Given the description of an element on the screen output the (x, y) to click on. 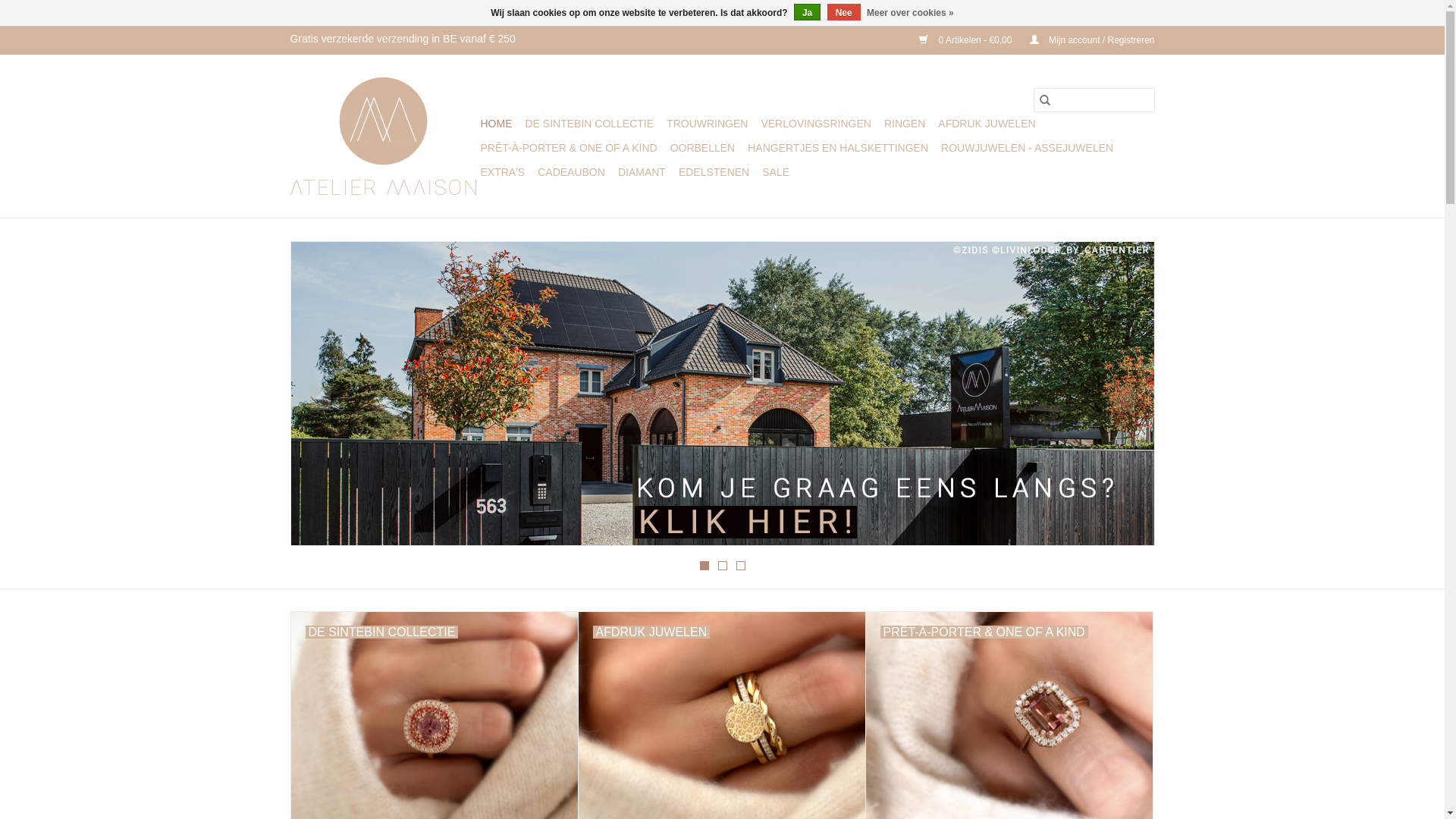
SALE Element type: text (775, 172)
TROUWRINGEN Element type: text (707, 123)
DE SINTEBIN COLLECTIE Element type: text (589, 123)
Ja Element type: text (806, 11)
CADEAUBON Element type: text (571, 172)
DIAMANT Element type: text (641, 172)
HANGERTJES EN HALSKETTINGEN Element type: text (837, 147)
3 Element type: text (739, 565)
trouwen Element type: hover (722, 393)
1 Element type: text (703, 565)
EDELSTENEN Element type: text (713, 172)
EXTRA'S Element type: text (503, 172)
Mijn account / Registreren Element type: text (1084, 39)
ROUWJUWELEN - ASSEJUWELEN Element type: text (1026, 147)
RINGEN Element type: text (904, 123)
Vorige Element type: hover (319, 397)
HOME Element type: text (496, 123)
Nee Element type: text (843, 11)
AFDRUK JUWELEN Element type: text (986, 123)
Volgende Element type: hover (1124, 397)
Zoeken Element type: hover (1043, 99)
2 Element type: text (721, 565)
VERLOVINGSRINGEN Element type: text (815, 123)
OORBELLEN Element type: text (702, 147)
